Given the description of an element on the screen output the (x, y) to click on. 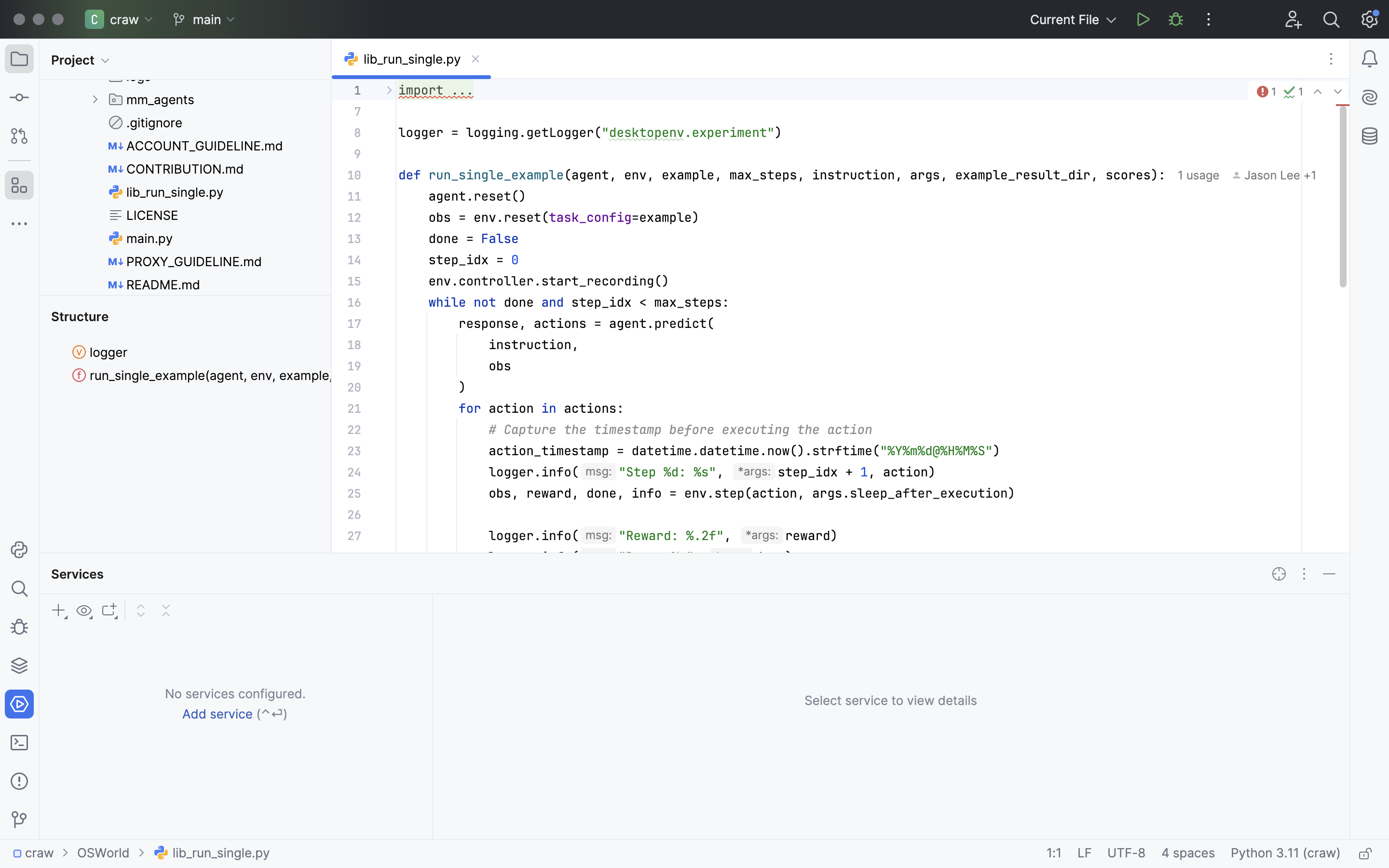
1 Element type: AXStaticText (1265, 91)
1:1 Element type: AXStaticText (1053, 854)
4 spaces Element type: AXStaticText (1188, 853)
Make file read-only Element type: AXStaticText (1363, 854)
